Given the description of an element on the screen output the (x, y) to click on. 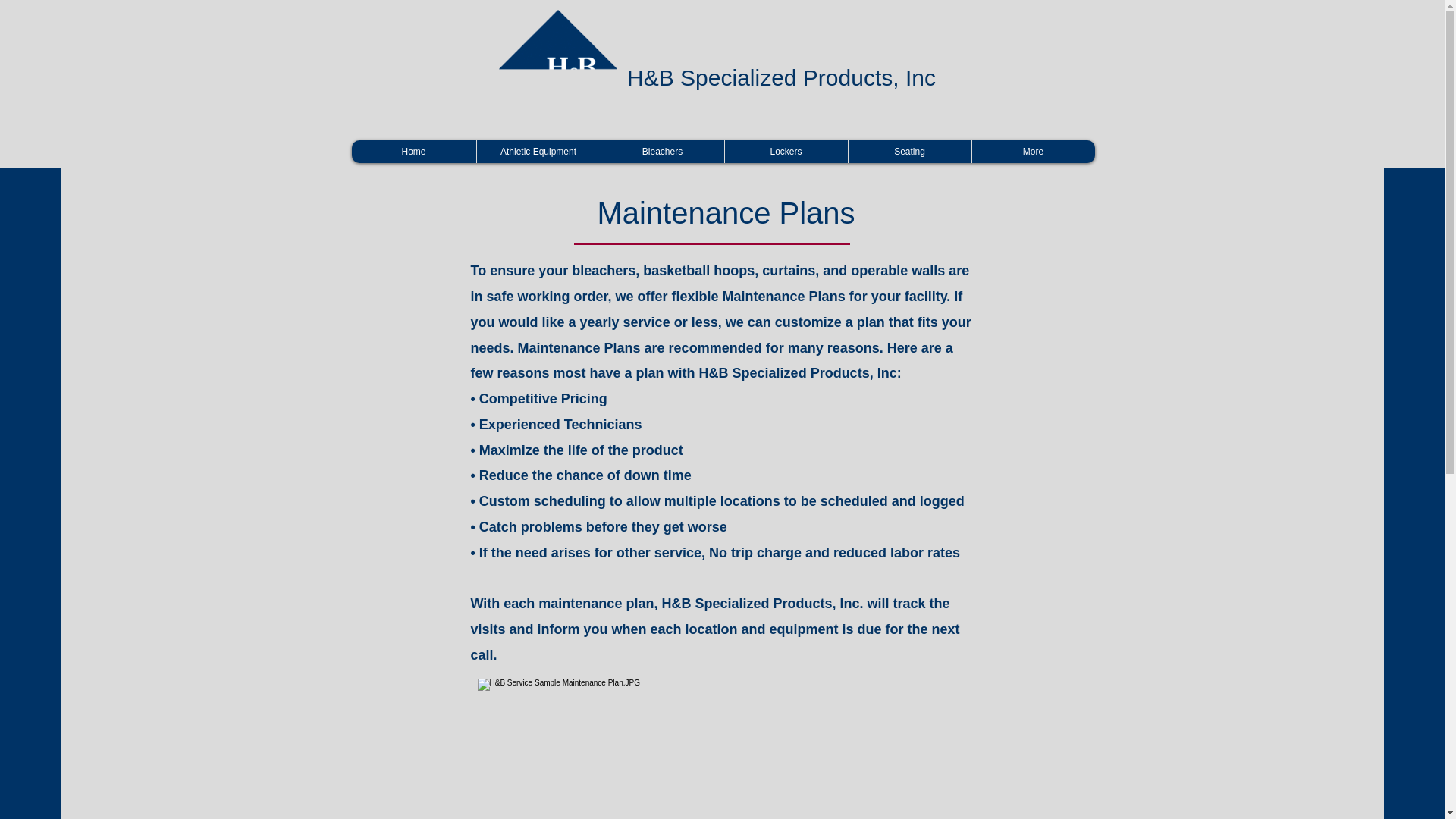
Lockers (785, 151)
Home (414, 151)
Bleachers (661, 151)
Seating (909, 151)
Athletic Equipment (537, 151)
